Given the description of an element on the screen output the (x, y) to click on. 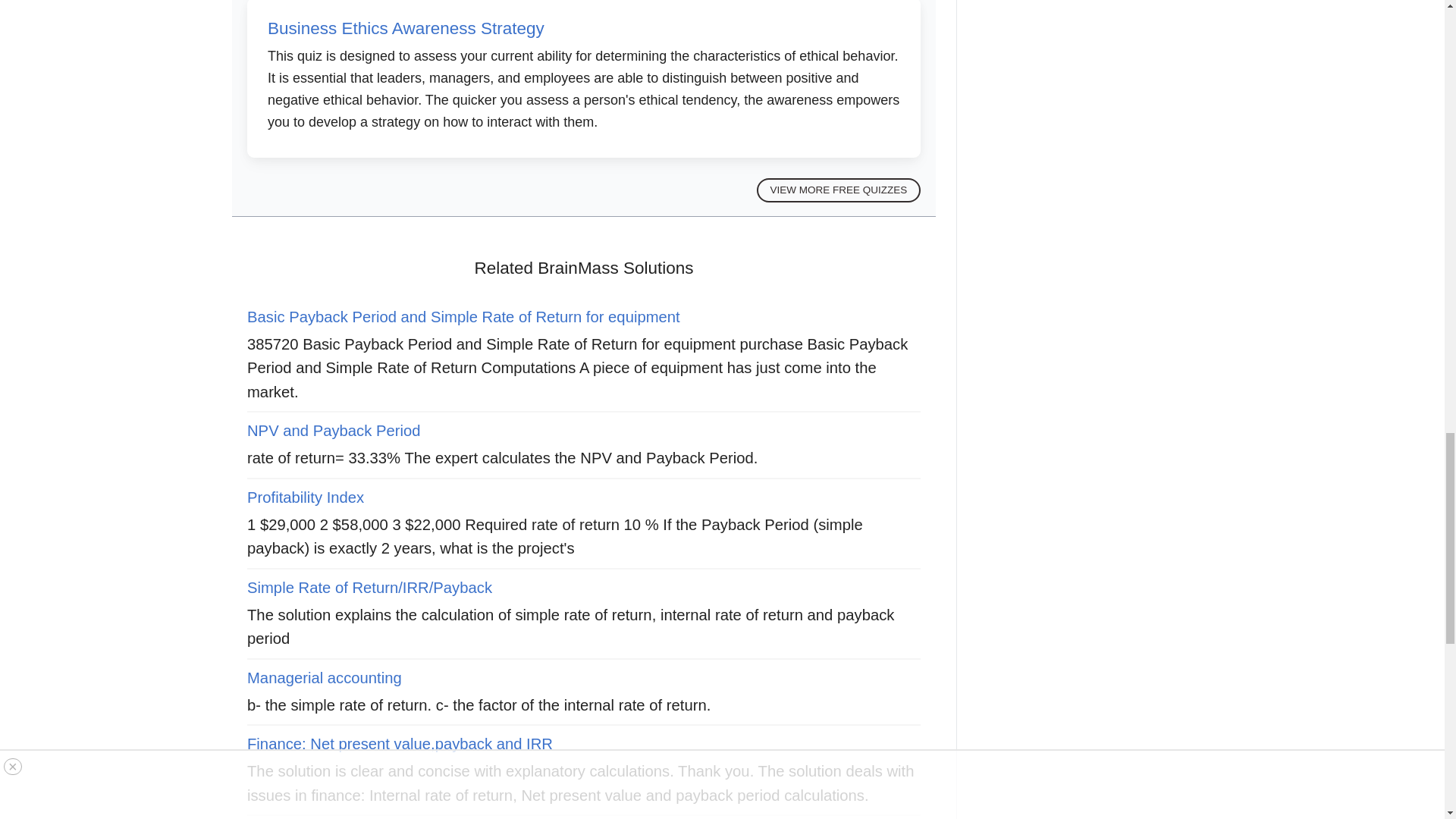
Business Ethics Awareness Strategy (405, 27)
